Given the description of an element on the screen output the (x, y) to click on. 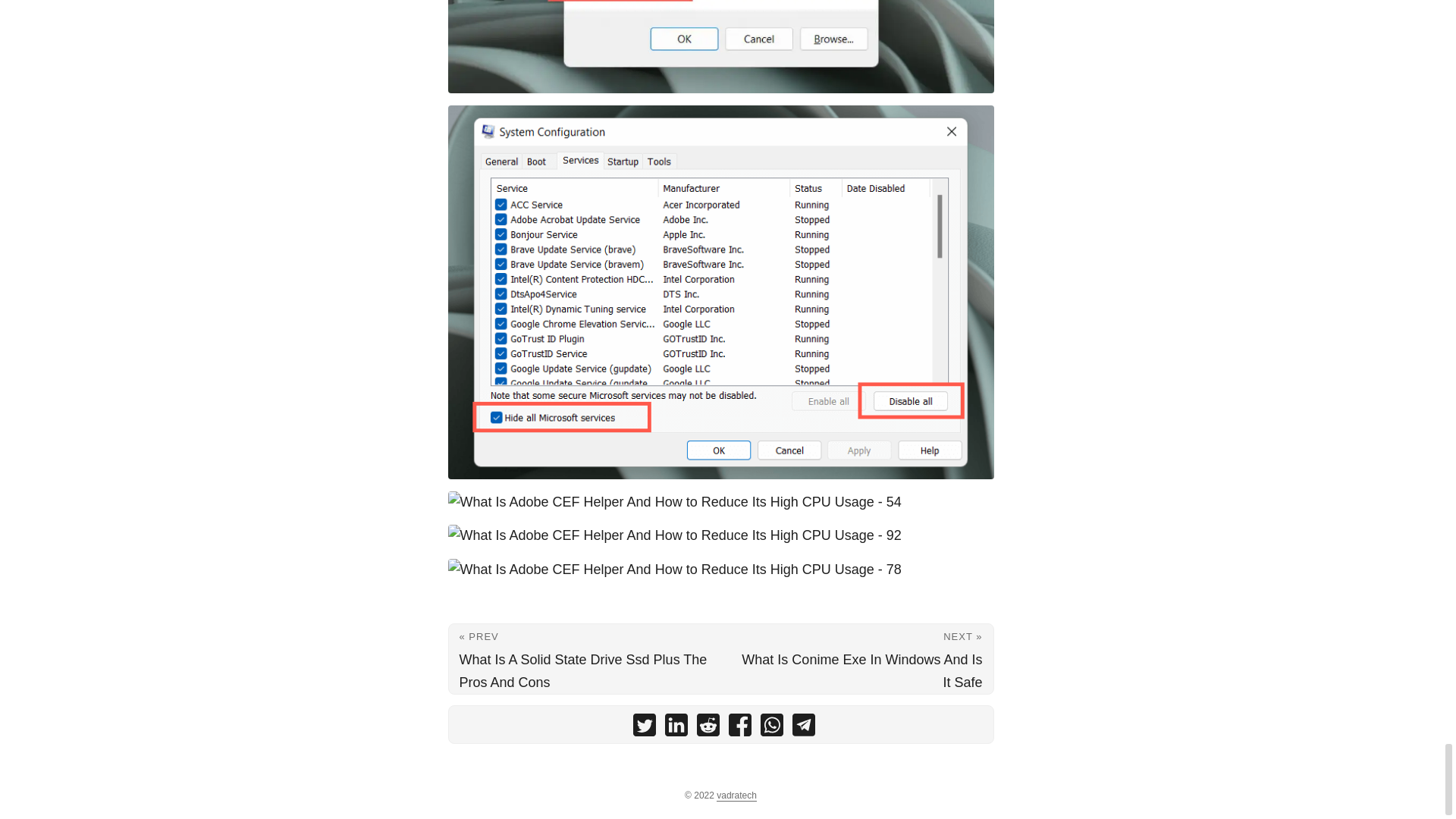
vadratech (736, 795)
